Given the description of an element on the screen output the (x, y) to click on. 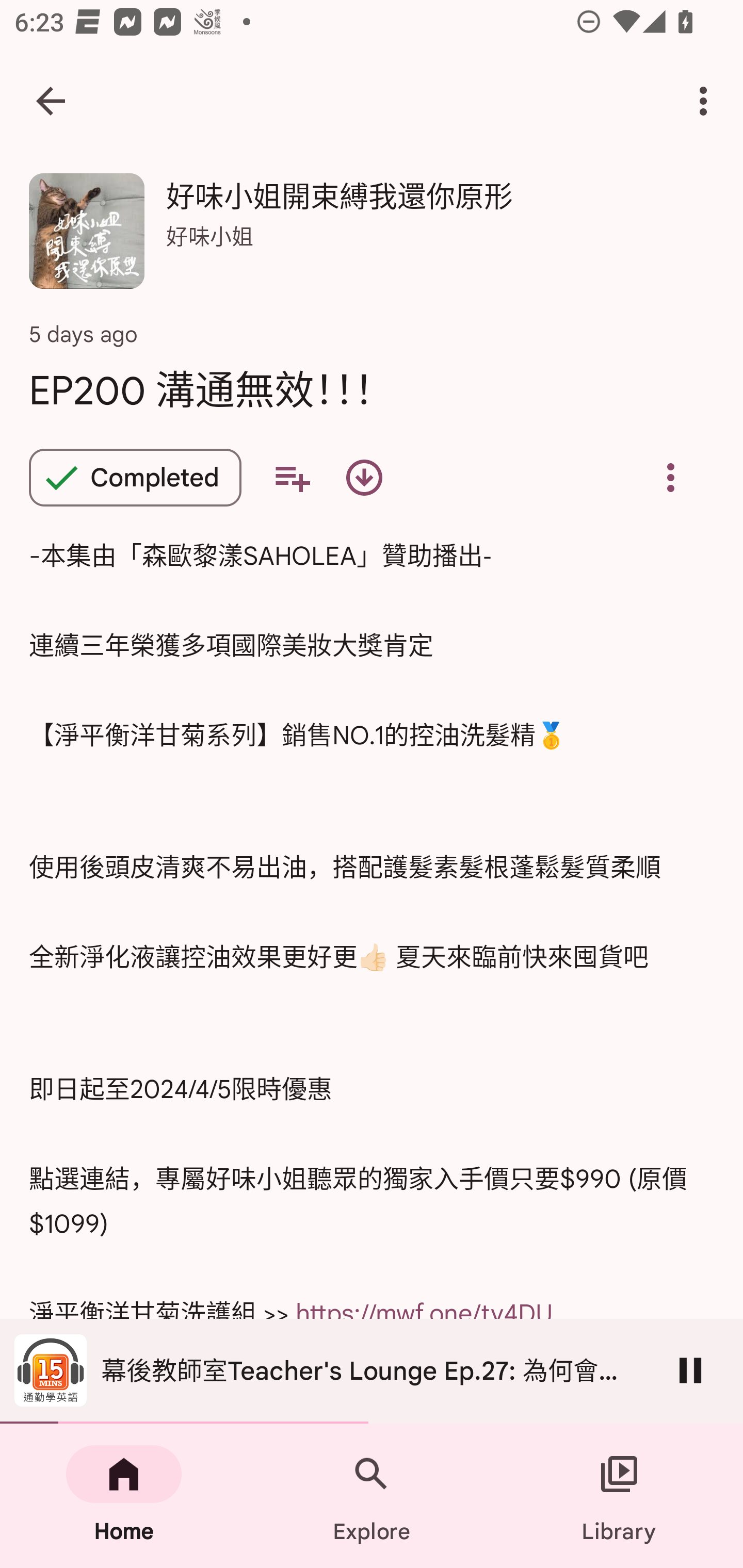
Navigate up (50, 101)
More options (706, 101)
好味小姐開束縛我還你原形 好味小姐開束縛我還你原形 好味小姐 (371, 238)
Play episode EP200 溝通無效！！！ Completed (134, 477)
Add to your queue (291, 477)
Download episode (364, 477)
Overflow menu (670, 477)
Pause (690, 1370)
Explore (371, 1495)
Library (619, 1495)
